Given the description of an element on the screen output the (x, y) to click on. 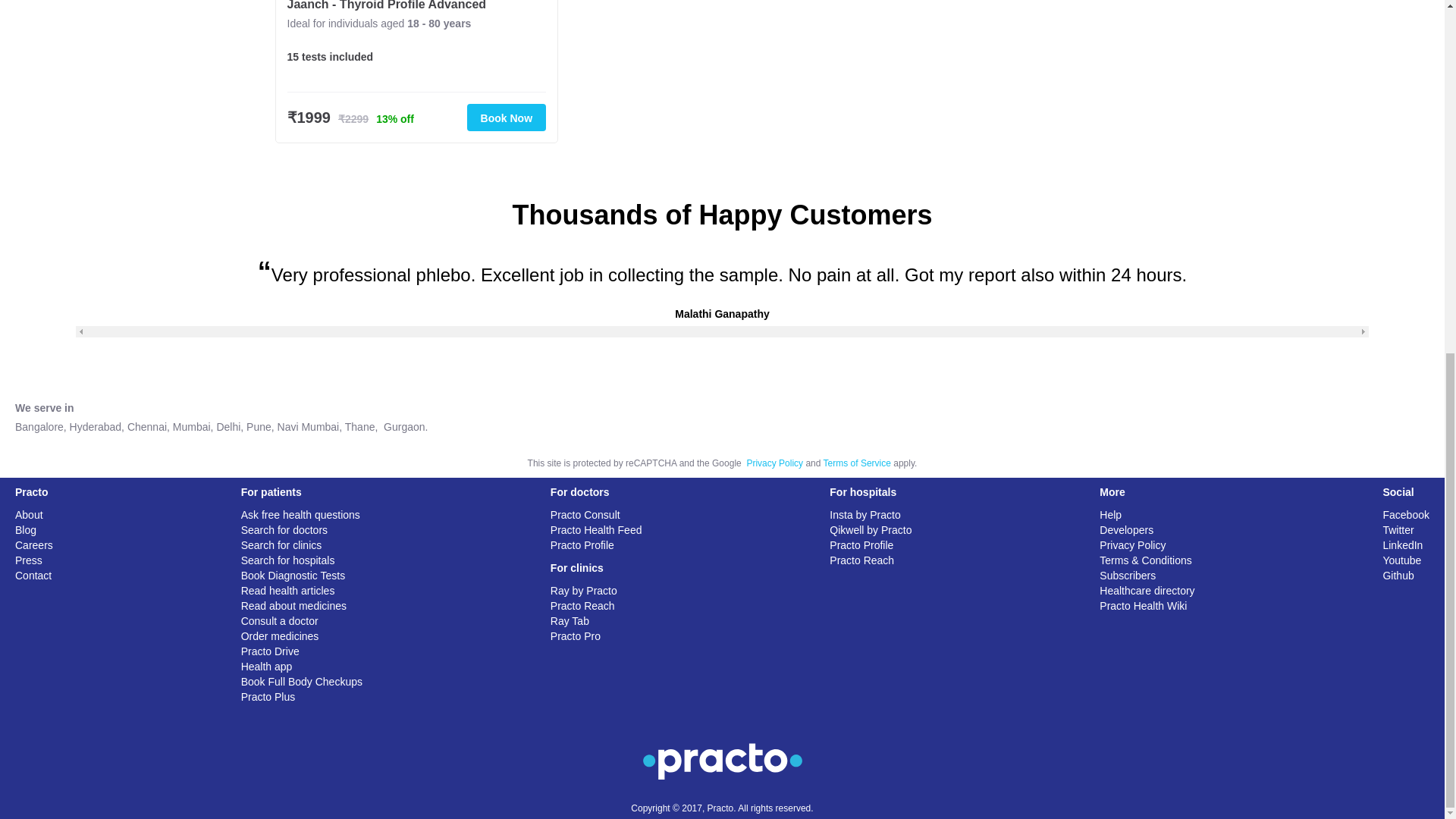
Book Full Body Checkups (301, 681)
Developers (1126, 530)
Search for clinics (281, 544)
Blog (25, 530)
Search for hospitals (287, 560)
Practo Reach (582, 605)
Ray Tab (569, 621)
Practo Consult (585, 514)
Health app (266, 666)
Practo Health Feed (596, 530)
